Given the description of an element on the screen output the (x, y) to click on. 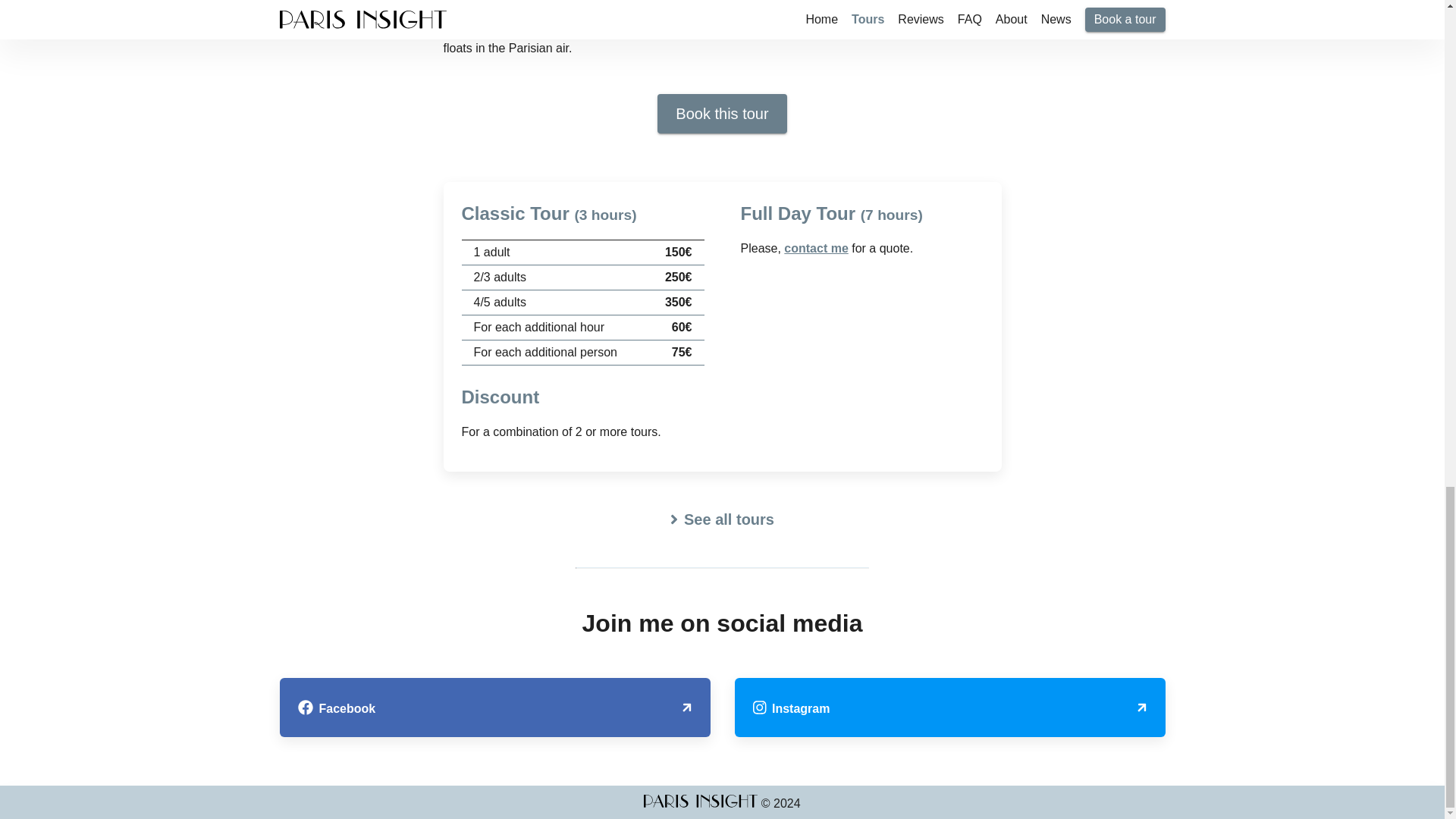
See all tours (721, 520)
Instagram (948, 707)
Book this tour (722, 113)
contact me (815, 247)
Facebook (494, 707)
